Given the description of an element on the screen output the (x, y) to click on. 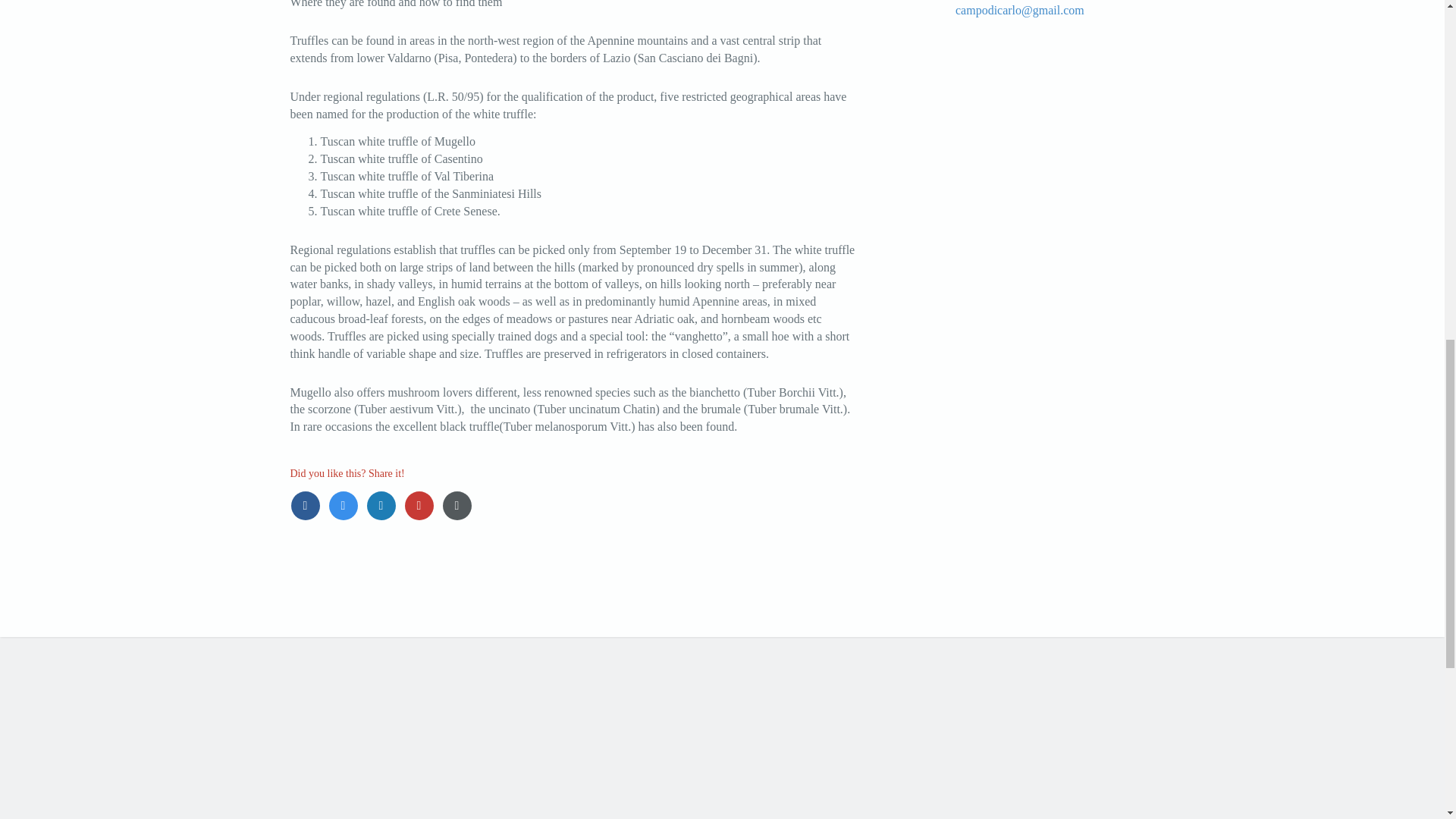
Email (458, 504)
Twitter (346, 504)
Linkedin (384, 504)
Facebook (308, 504)
Google (422, 504)
